Given the description of an element on the screen output the (x, y) to click on. 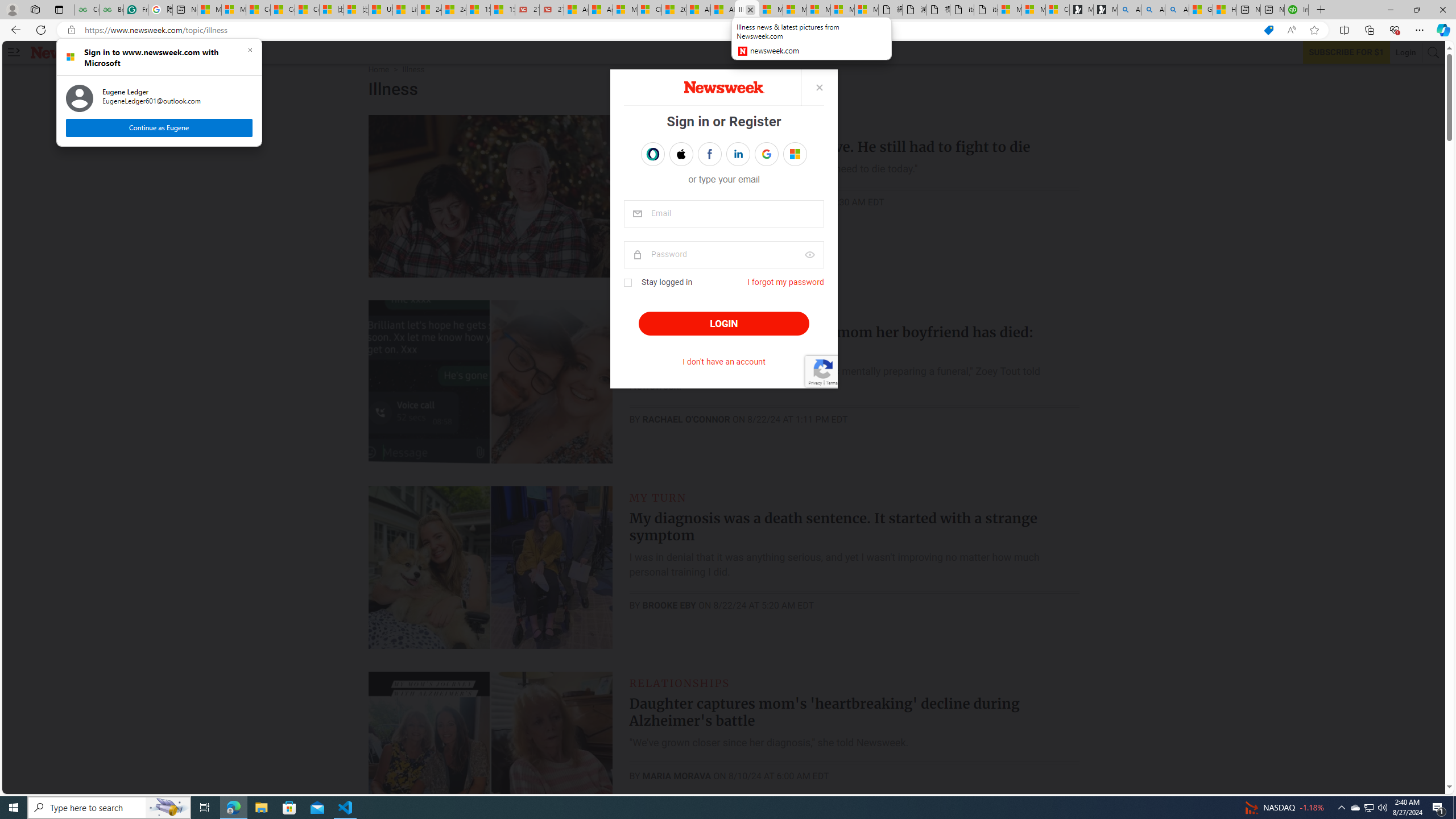
itconcepthk.com/projector_solutions.mp4 (986, 9)
